Given the description of an element on the screen output the (x, y) to click on. 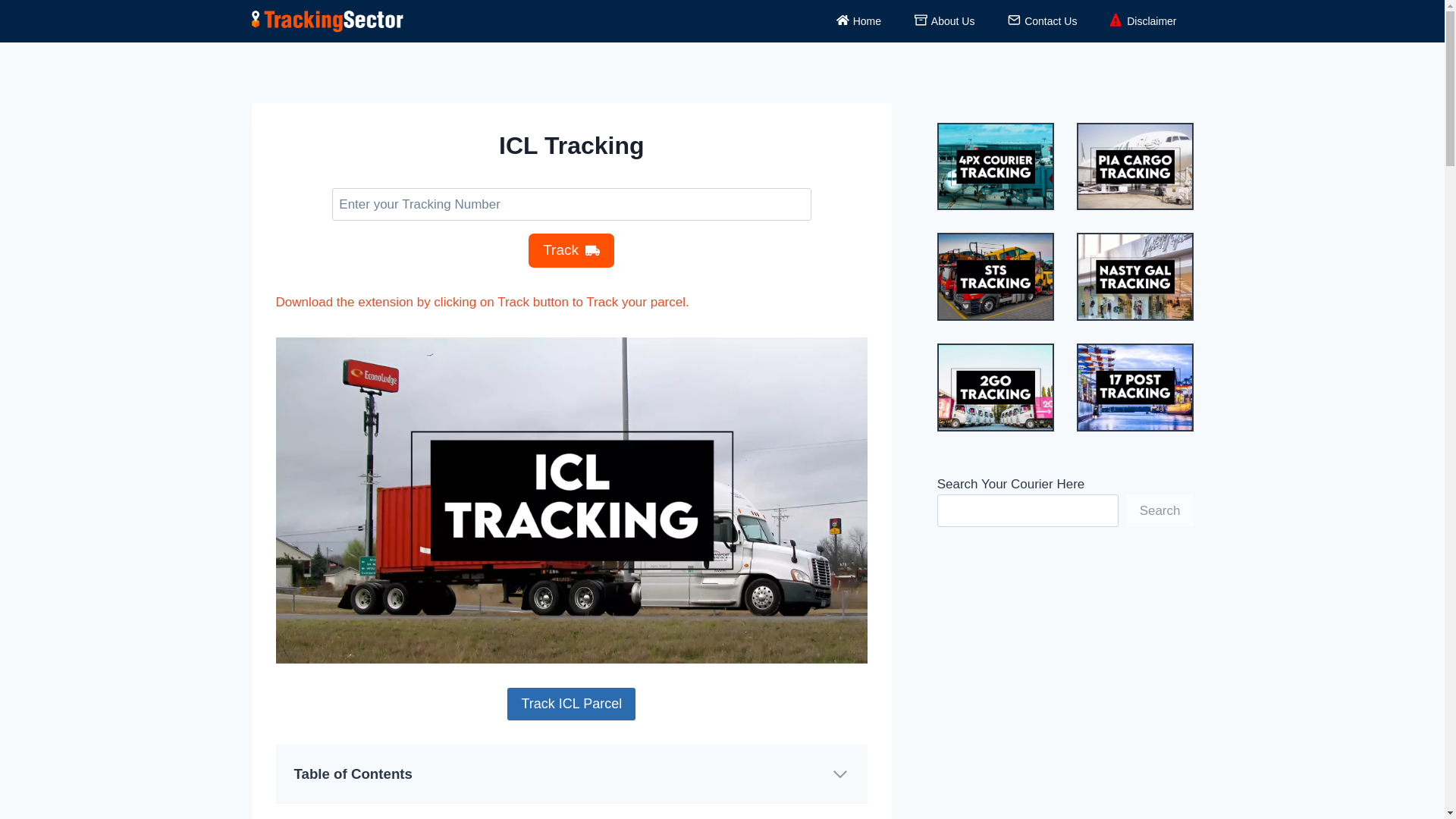
Contact Us (1042, 20)
Track (571, 250)
Disclaimer (1142, 20)
Track ICL Parcel (570, 703)
Search (1159, 510)
Home (858, 20)
About Us (944, 20)
